Given the description of an element on the screen output the (x, y) to click on. 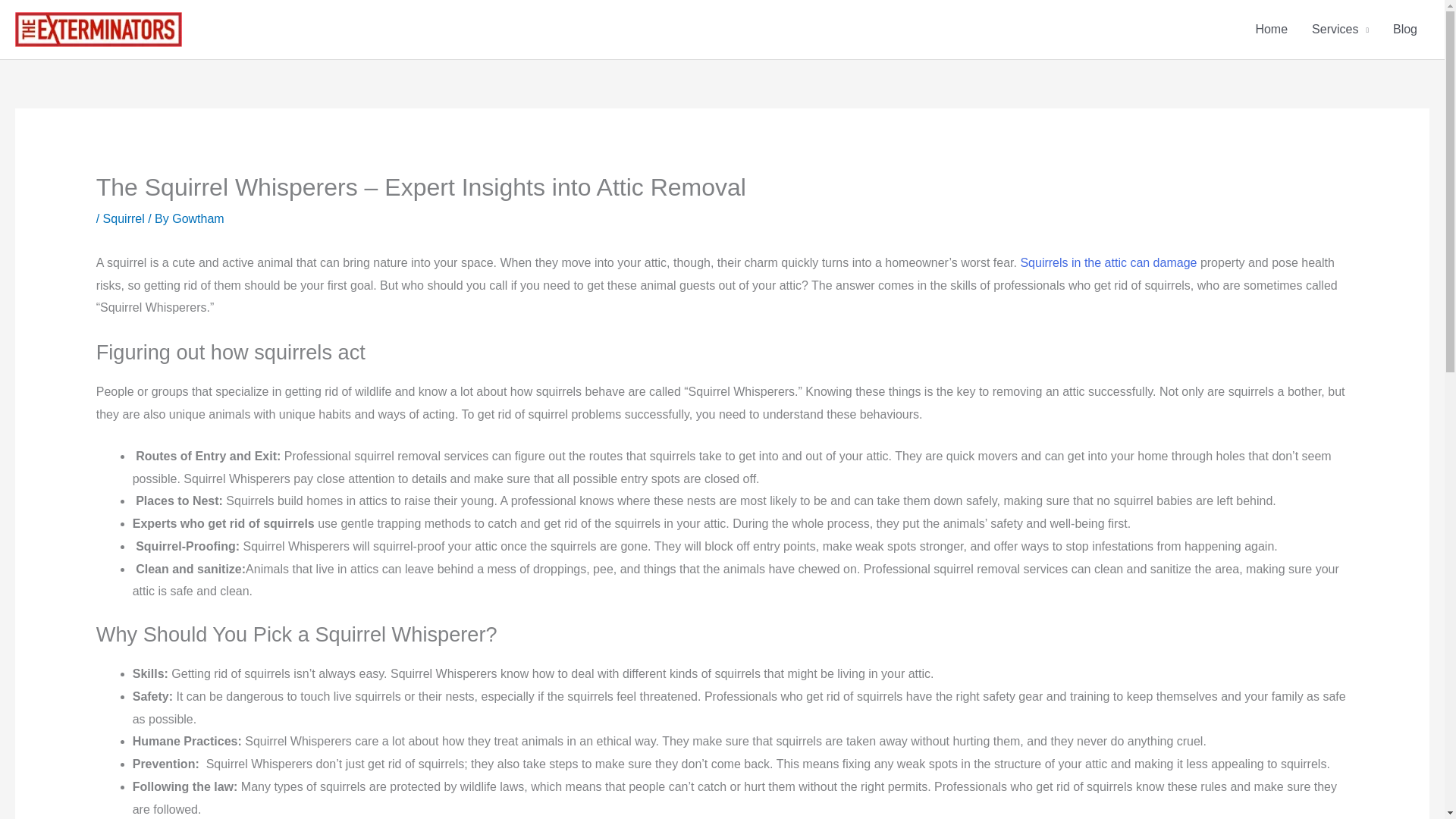
View all posts by Gowtham (197, 218)
Services (1340, 29)
Squirrels in the attic can damage (1108, 262)
Home (1271, 29)
Squirrel (123, 218)
Gowtham (197, 218)
